Given the description of an element on the screen output the (x, y) to click on. 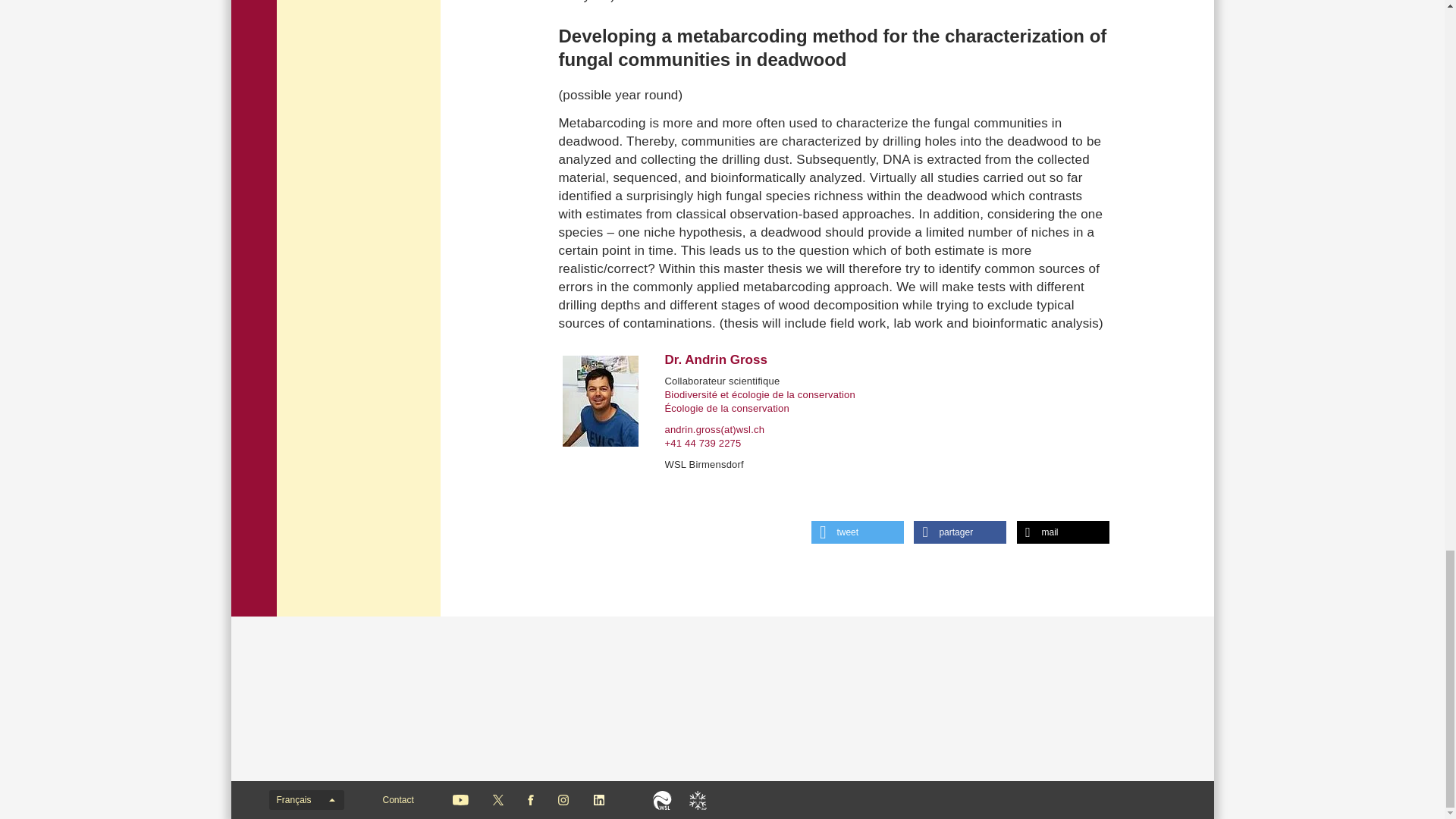
Partager sur Twitter (857, 531)
Partager sur Facebook (960, 531)
Envoyer par courriel (1062, 531)
